Given the description of an element on the screen output the (x, y) to click on. 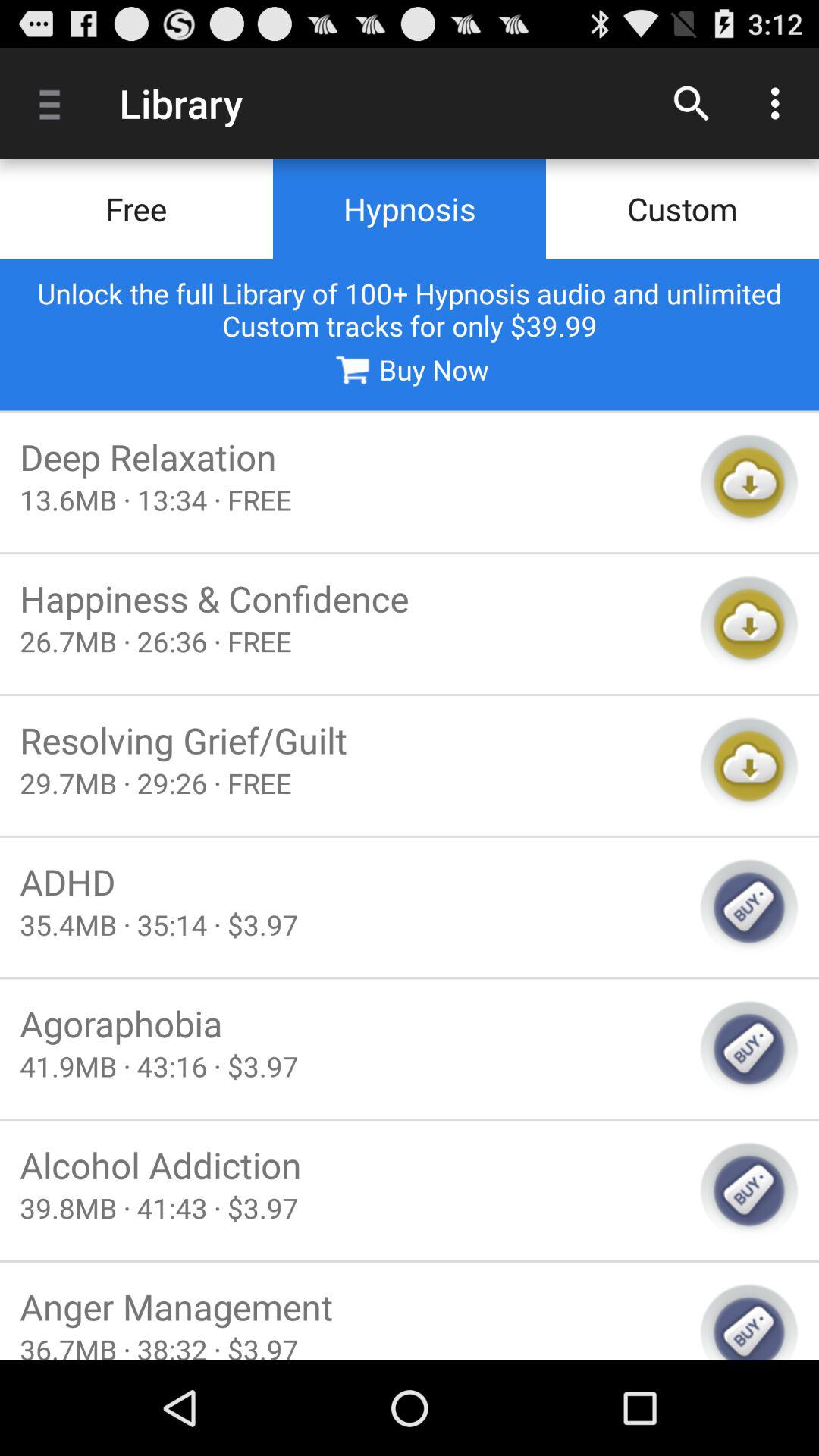
download track (749, 482)
